Given the description of an element on the screen output the (x, y) to click on. 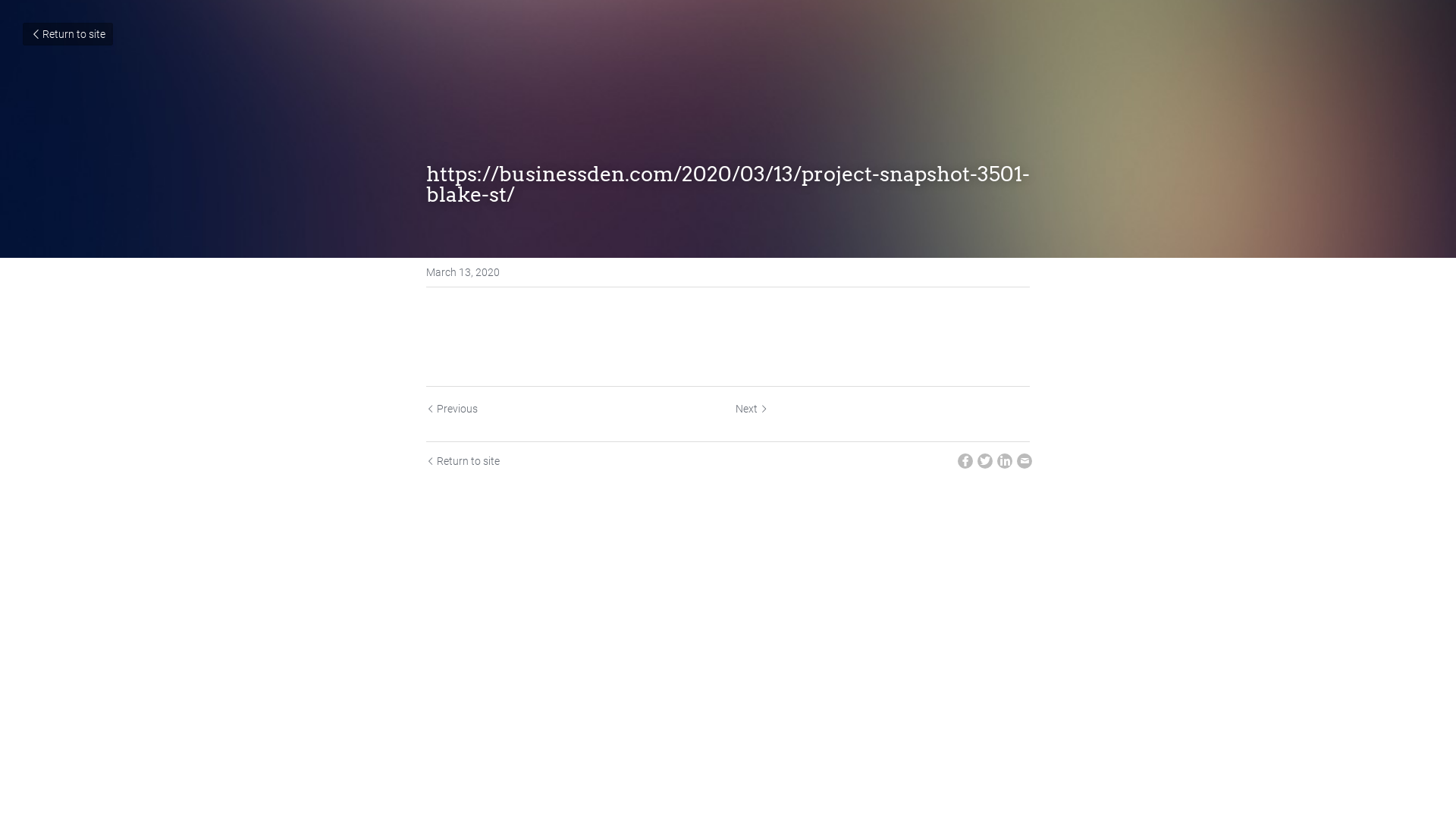
Return to site Element type: text (67, 33)
Next Element type: text (751, 408)
Previous Element type: text (451, 408)
 Return to site Element type: text (462, 461)
